Given the description of an element on the screen output the (x, y) to click on. 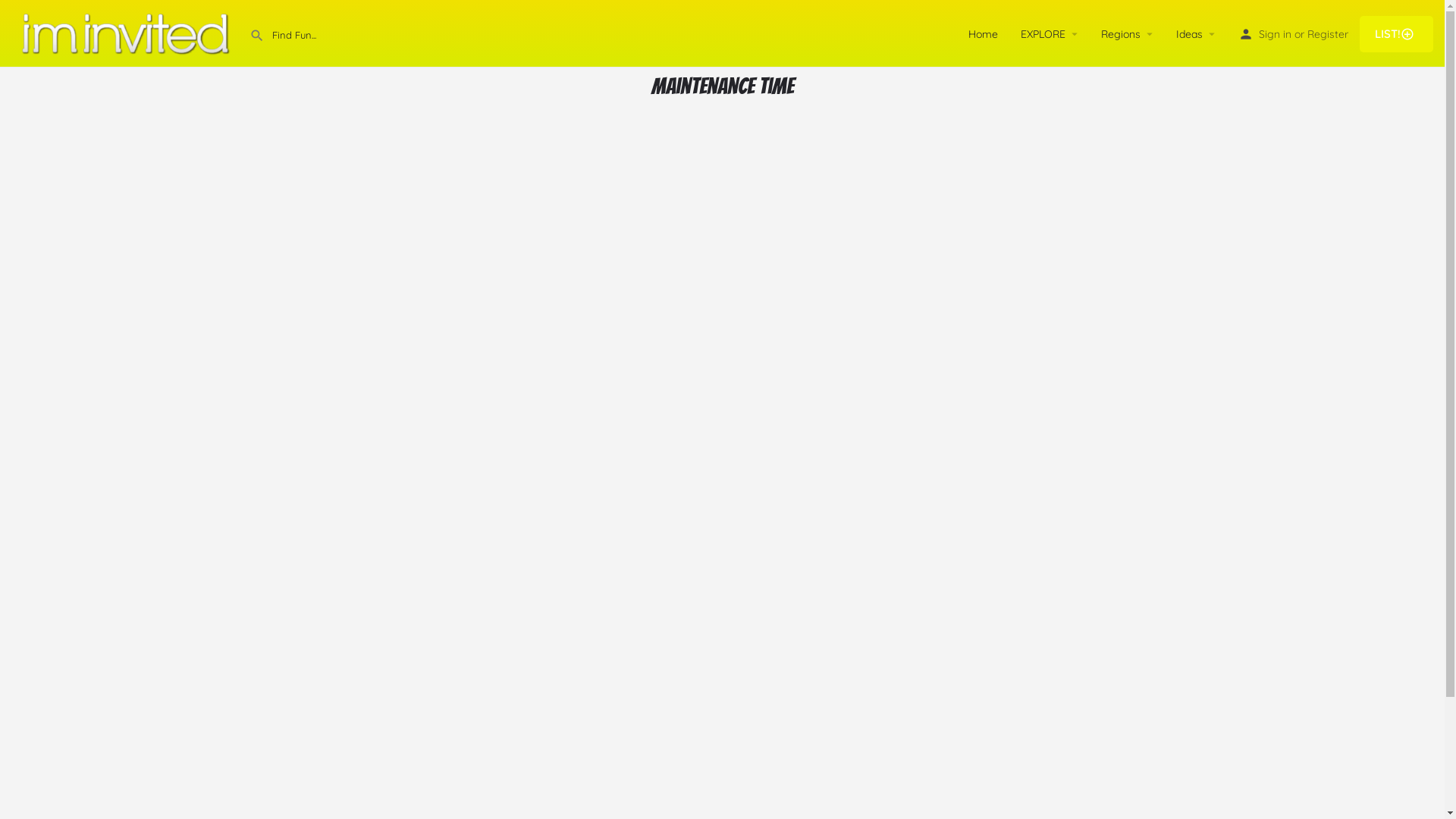
EXPLORE Element type: text (1042, 32)
Regions Element type: text (1120, 32)
Sign in Element type: text (1274, 33)
Register Element type: text (1327, 33)
Ideas Element type: text (1189, 32)
Home Element type: text (982, 32)
LIST! Element type: text (1396, 33)
